Given the description of an element on the screen output the (x, y) to click on. 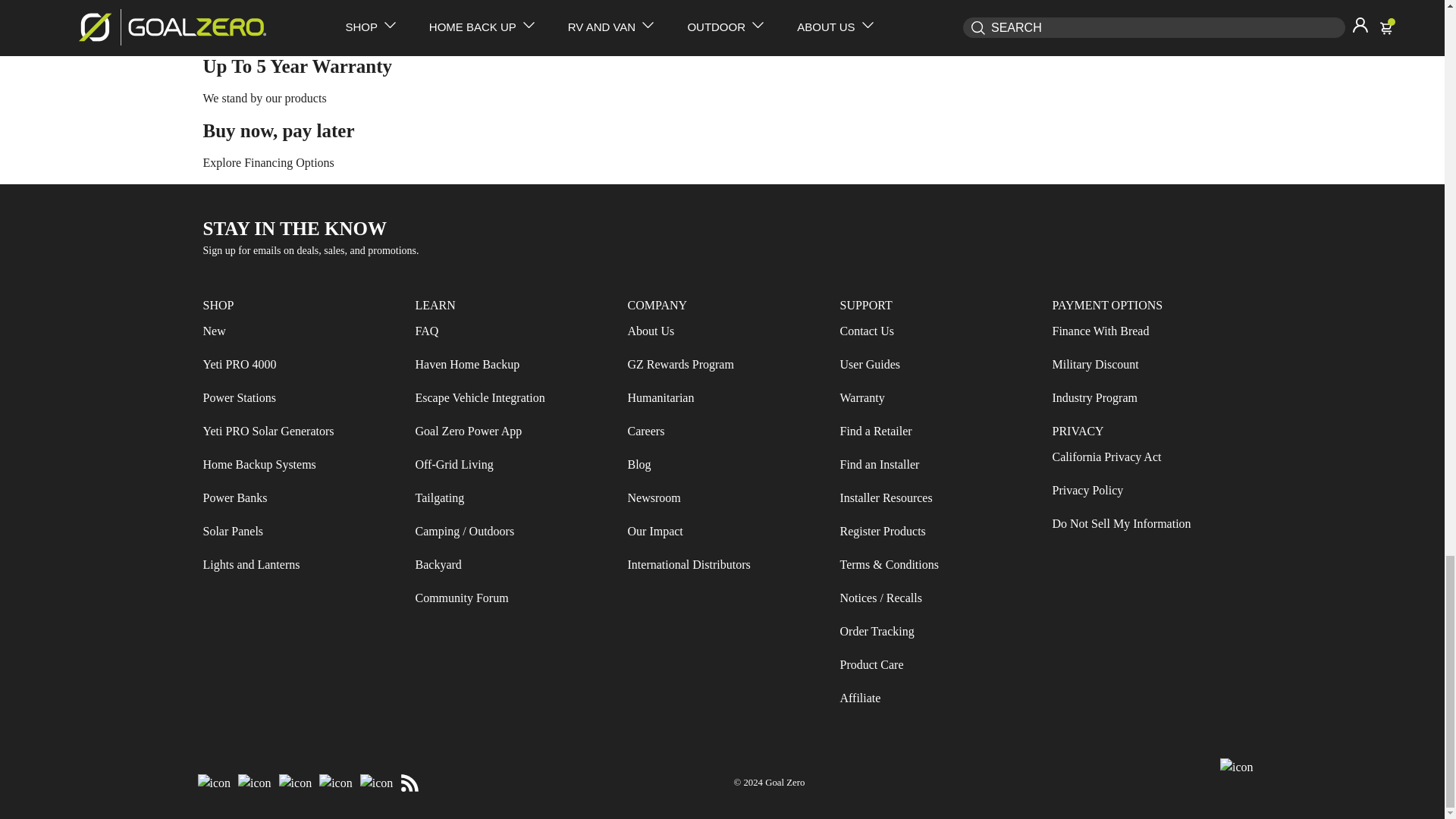
Goal Zero on Facebook (213, 782)
Goal Zero on Twitter (295, 782)
Goal Zero on YouTube (336, 782)
Goal Zero on Pinterest (377, 782)
Goal Zero on Instagram (254, 782)
